Given the description of an element on the screen output the (x, y) to click on. 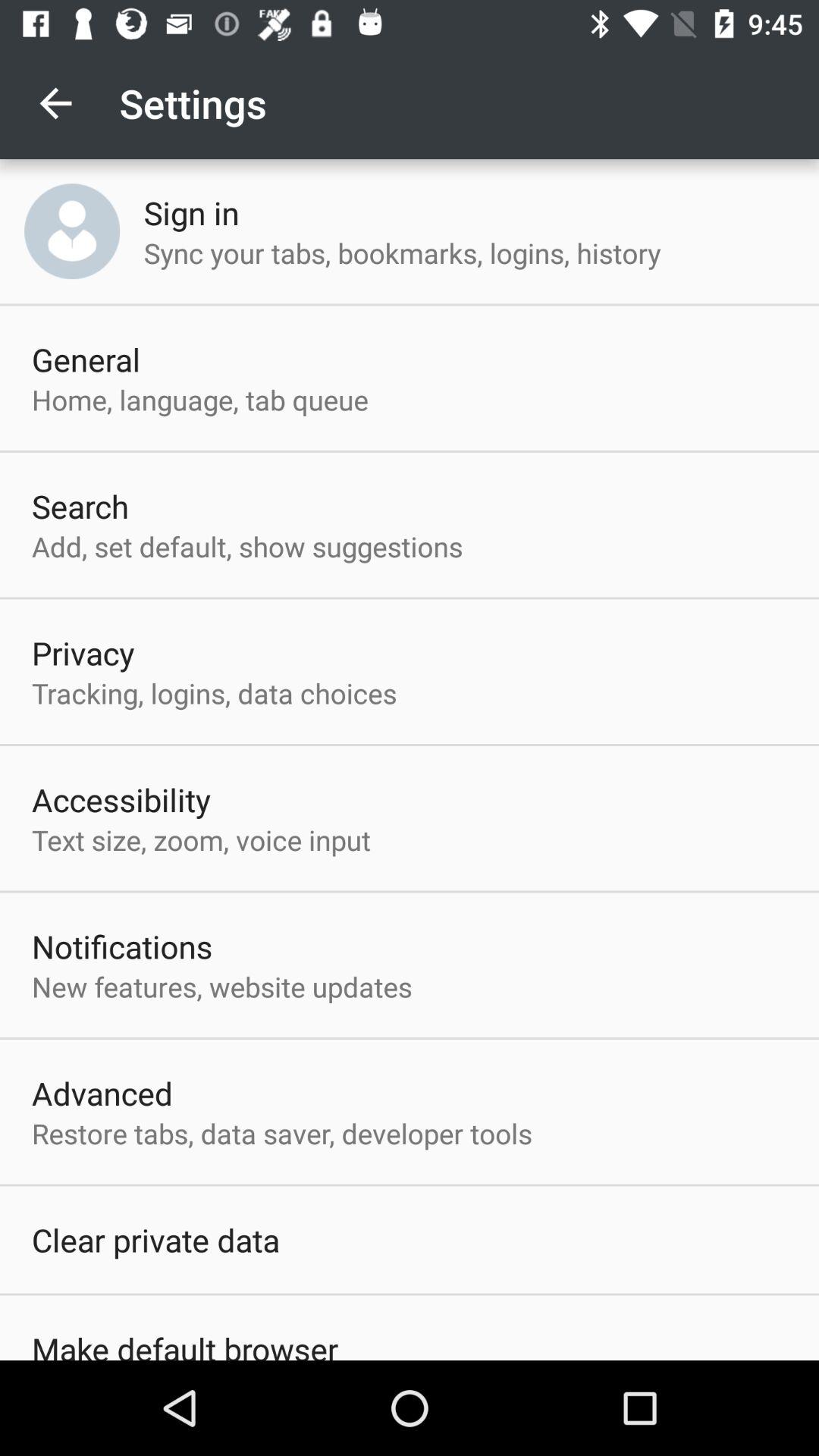
scroll until the privacy (82, 652)
